Given the description of an element on the screen output the (x, y) to click on. 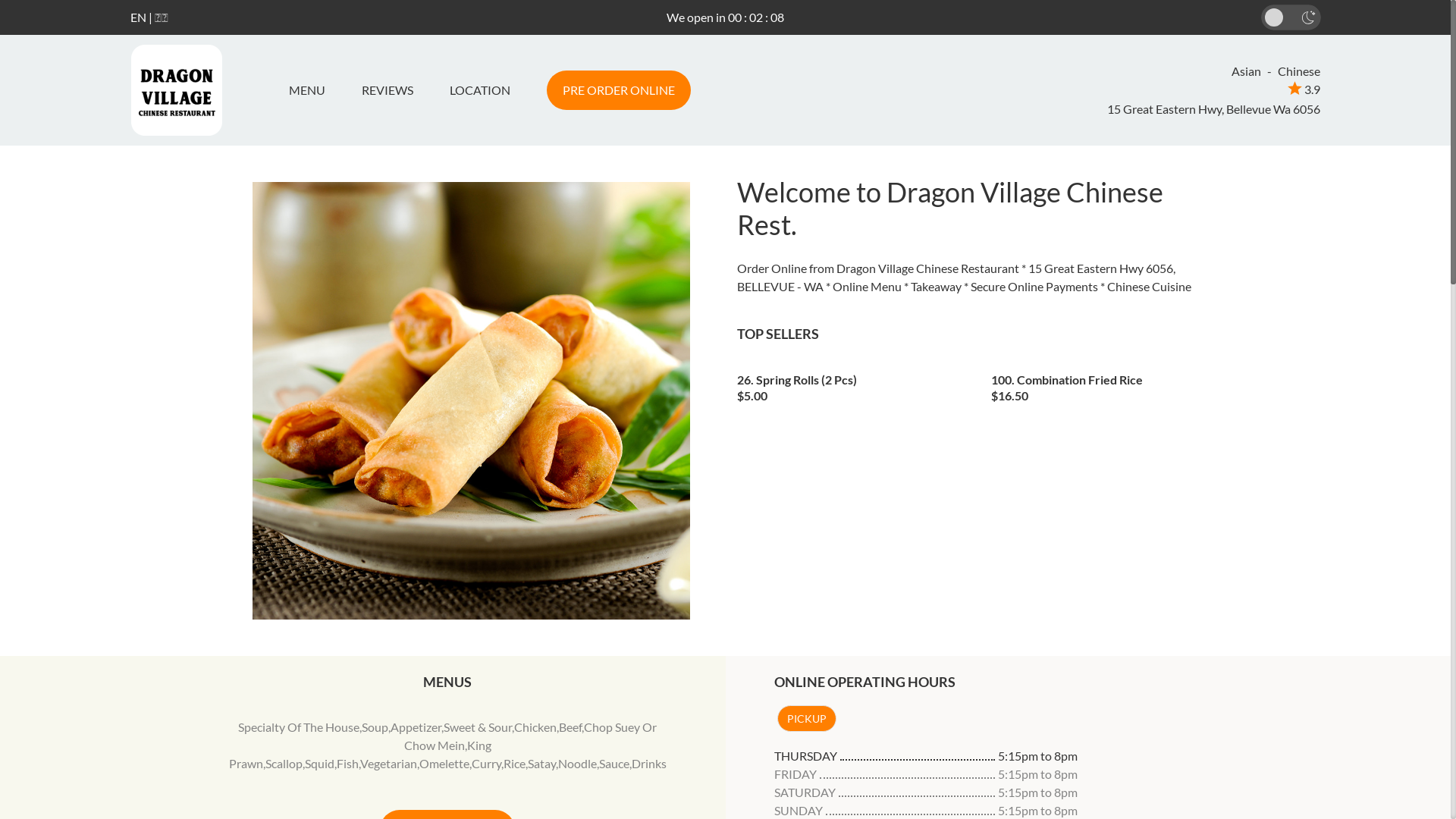
Drinks Element type: text (648, 763)
Specialty Of The House Element type: text (298, 726)
Soup Element type: text (374, 726)
REVIEWS Element type: text (386, 90)
Satay Element type: text (541, 763)
LOCATION Element type: text (478, 90)
Squid Element type: text (319, 763)
Vegetarian Element type: text (388, 763)
Omelette Element type: text (444, 763)
Curry Element type: text (486, 763)
Fish Element type: text (347, 763)
3.9 Element type: text (1303, 88)
26. Spring Rolls (2 Pcs)
$5.00 Element type: text (853, 382)
King Prawn Element type: text (360, 753)
Sweet & Sour Element type: text (477, 726)
Beef Element type: text (569, 726)
Scallop Element type: text (283, 763)
EN Element type: text (138, 16)
Chop Suey Or Chow Mein Element type: text (530, 735)
Chicken Element type: text (535, 726)
Sauce Element type: text (614, 763)
PICKUP Element type: text (805, 718)
Noodle Element type: text (577, 763)
100. Combination Fried Rice
$16.50 Element type: text (1107, 382)
PRE ORDER ONLINE Element type: text (618, 89)
Rice Element type: text (514, 763)
Appetizer Element type: text (415, 726)
MENU Element type: text (312, 90)
